Given the description of an element on the screen output the (x, y) to click on. 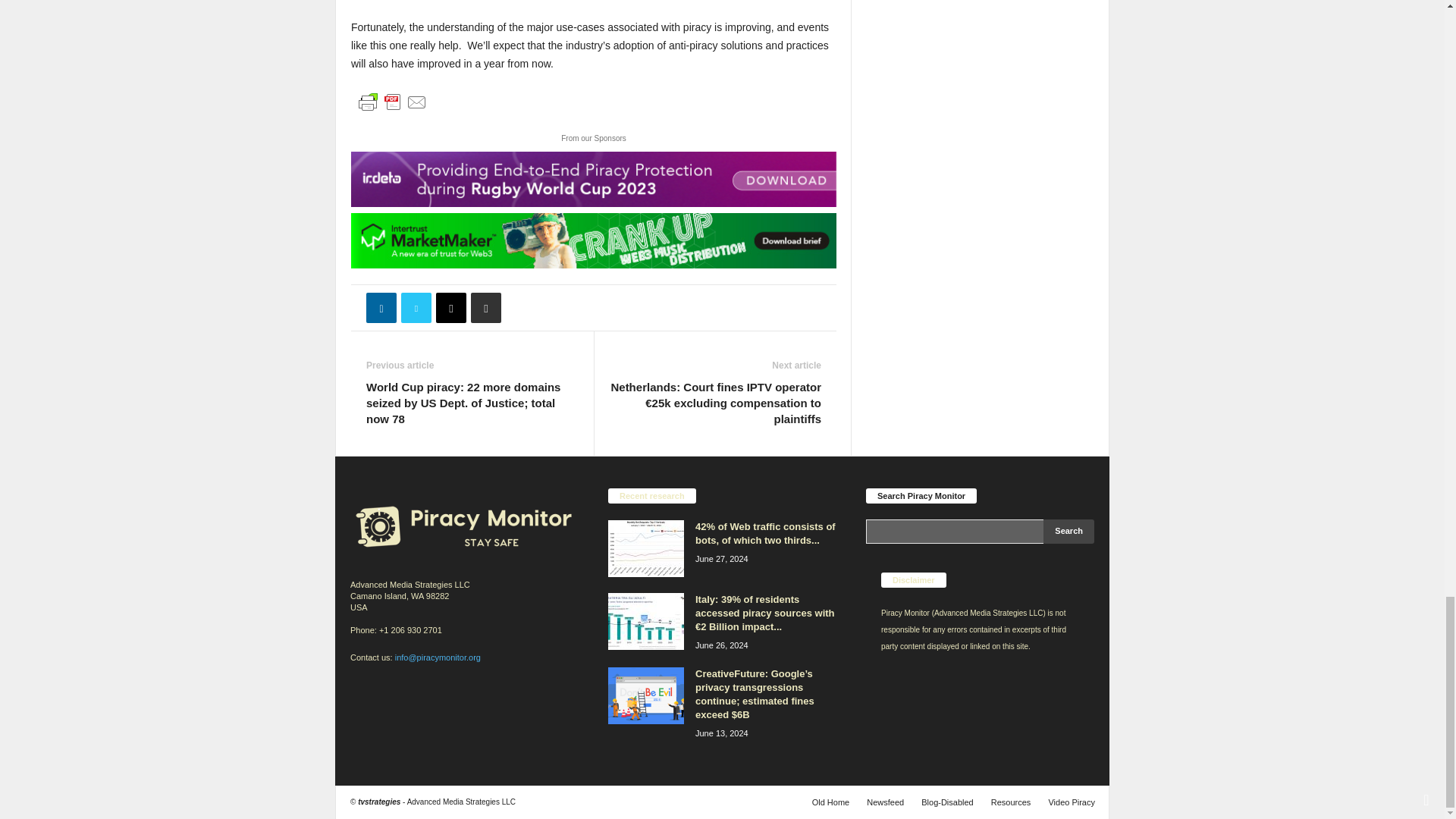
Search (1068, 531)
Twitter (415, 307)
Print (485, 307)
Linkedin (381, 307)
Email (450, 307)
